Given the description of an element on the screen output the (x, y) to click on. 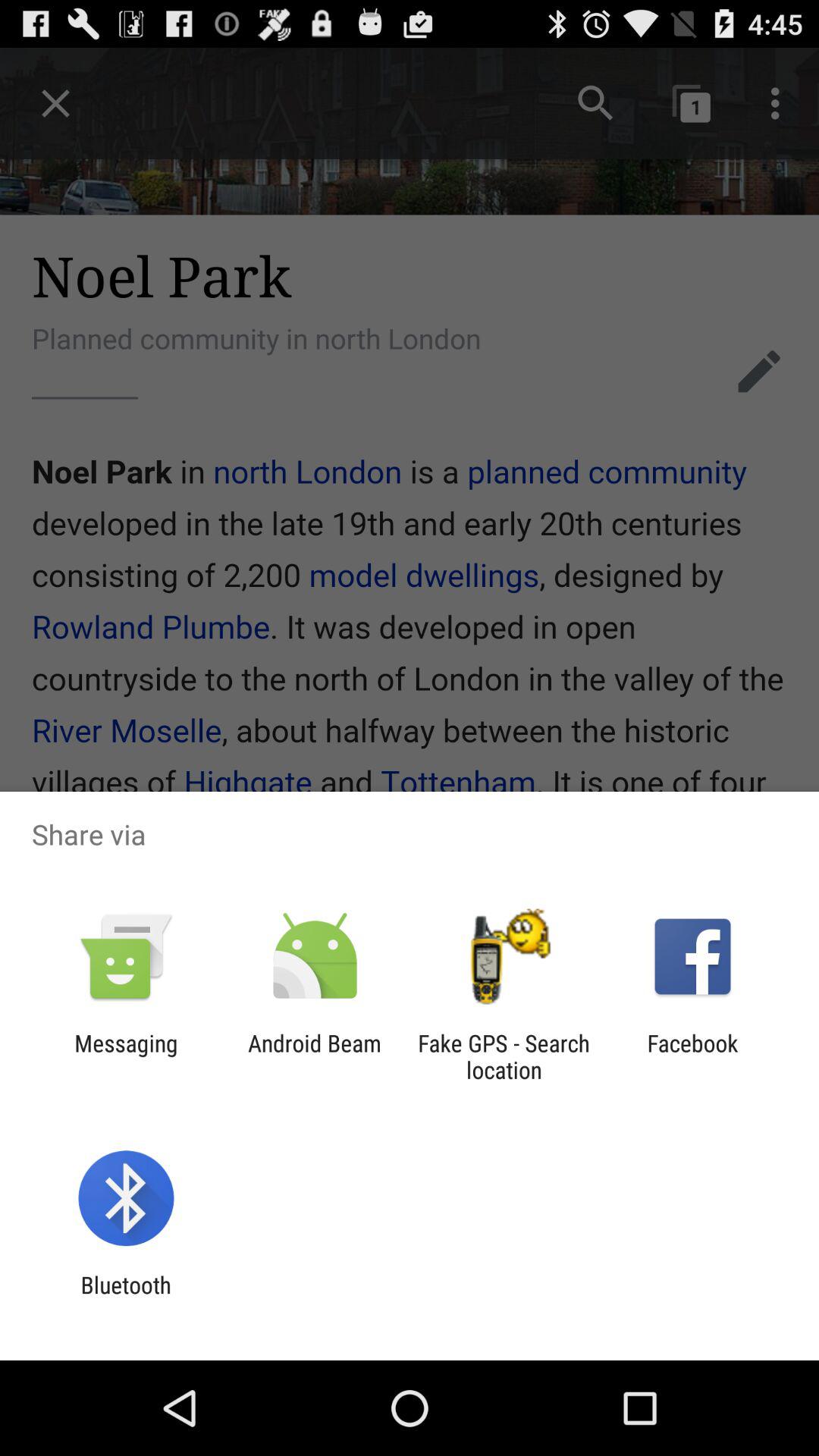
open the item next to android beam (126, 1056)
